Given the description of an element on the screen output the (x, y) to click on. 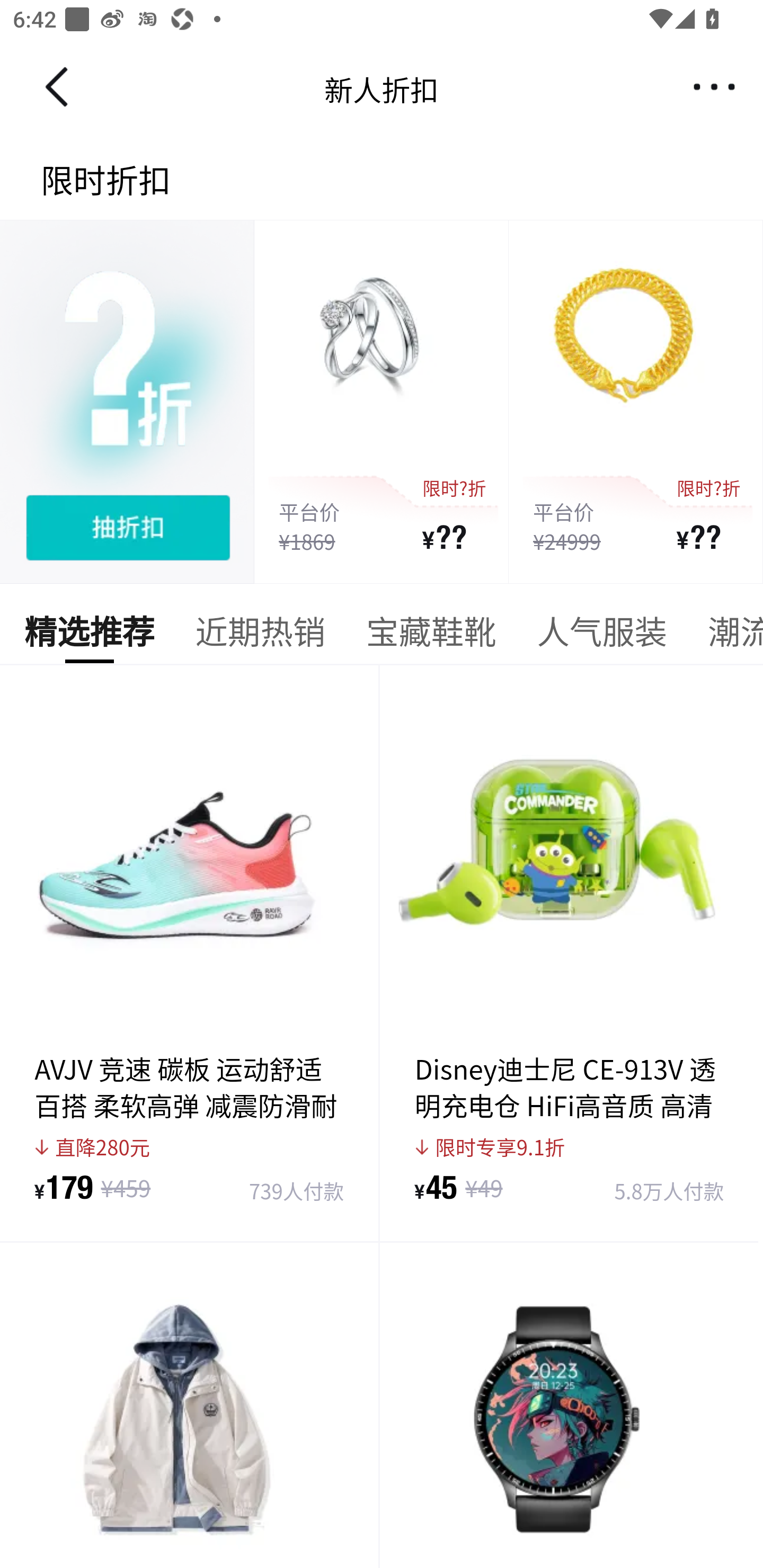
resize,w_250 (127, 401)
精选推荐   (89, 635)
近期热销 (259, 635)
宝藏鞋靴 (431, 635)
人气服装 (601, 635)
resize,w_300 (189, 1405)
resize,w_300 (569, 1405)
